Given the description of an element on the screen output the (x, y) to click on. 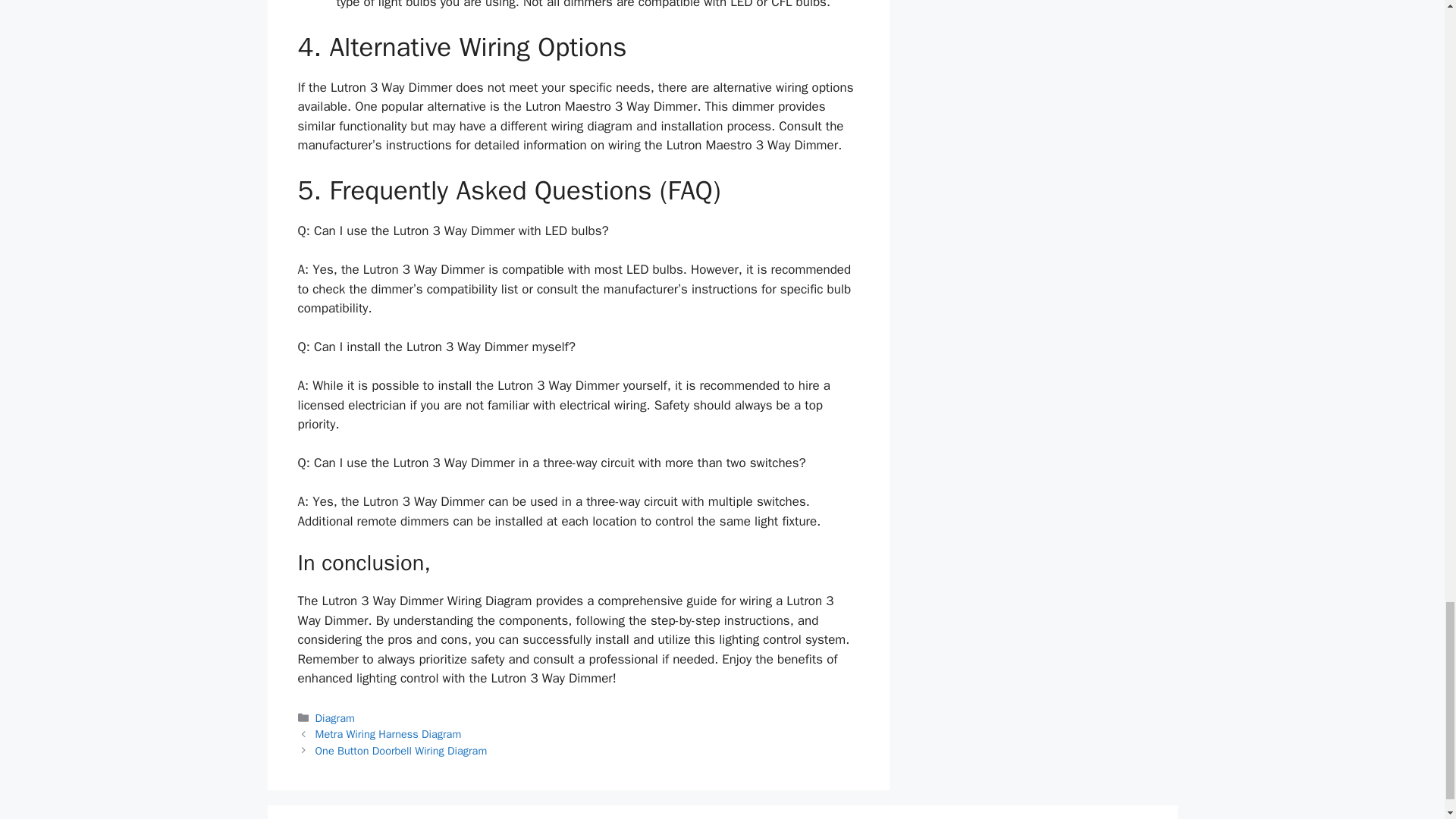
One Button Doorbell Wiring Diagram (401, 750)
Diagram (335, 717)
Metra Wiring Harness Diagram (388, 734)
